Given the description of an element on the screen output the (x, y) to click on. 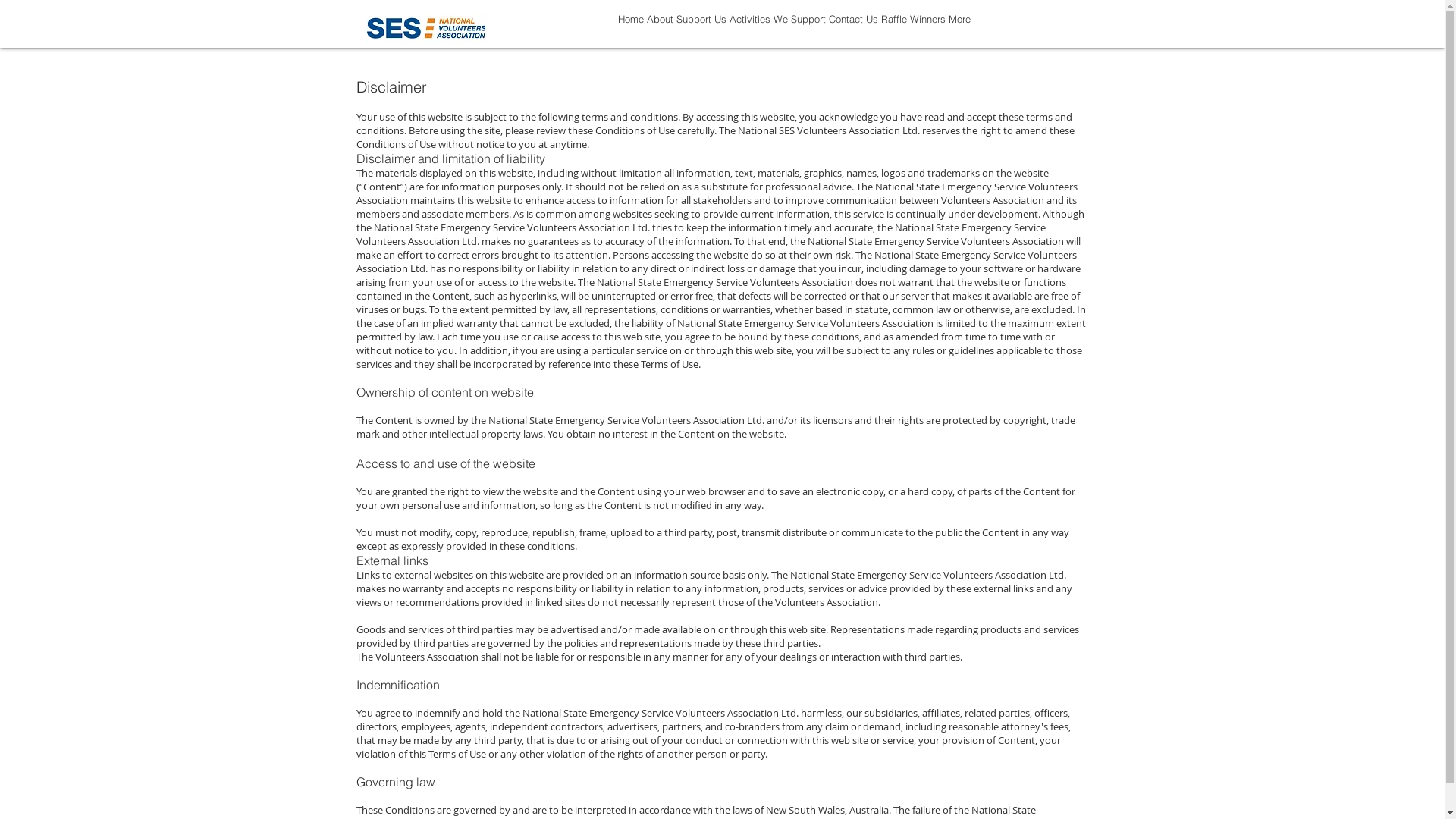
Home Element type: text (630, 28)
Support Us Element type: text (701, 28)
We Support Element type: text (799, 28)
About Element type: text (659, 28)
SES National.VA_LOGO.jpg Element type: hover (425, 27)
Raffle Winners Element type: text (913, 28)
Contact Us Element type: text (852, 28)
Activities Element type: text (749, 28)
